Given the description of an element on the screen output the (x, y) to click on. 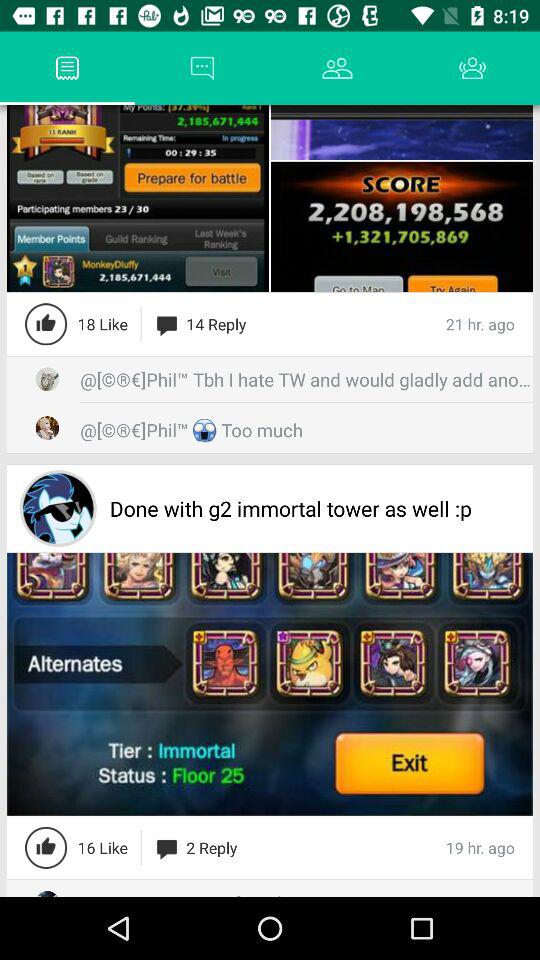
this button feature will like the post (46, 847)
